Given the description of an element on the screen output the (x, y) to click on. 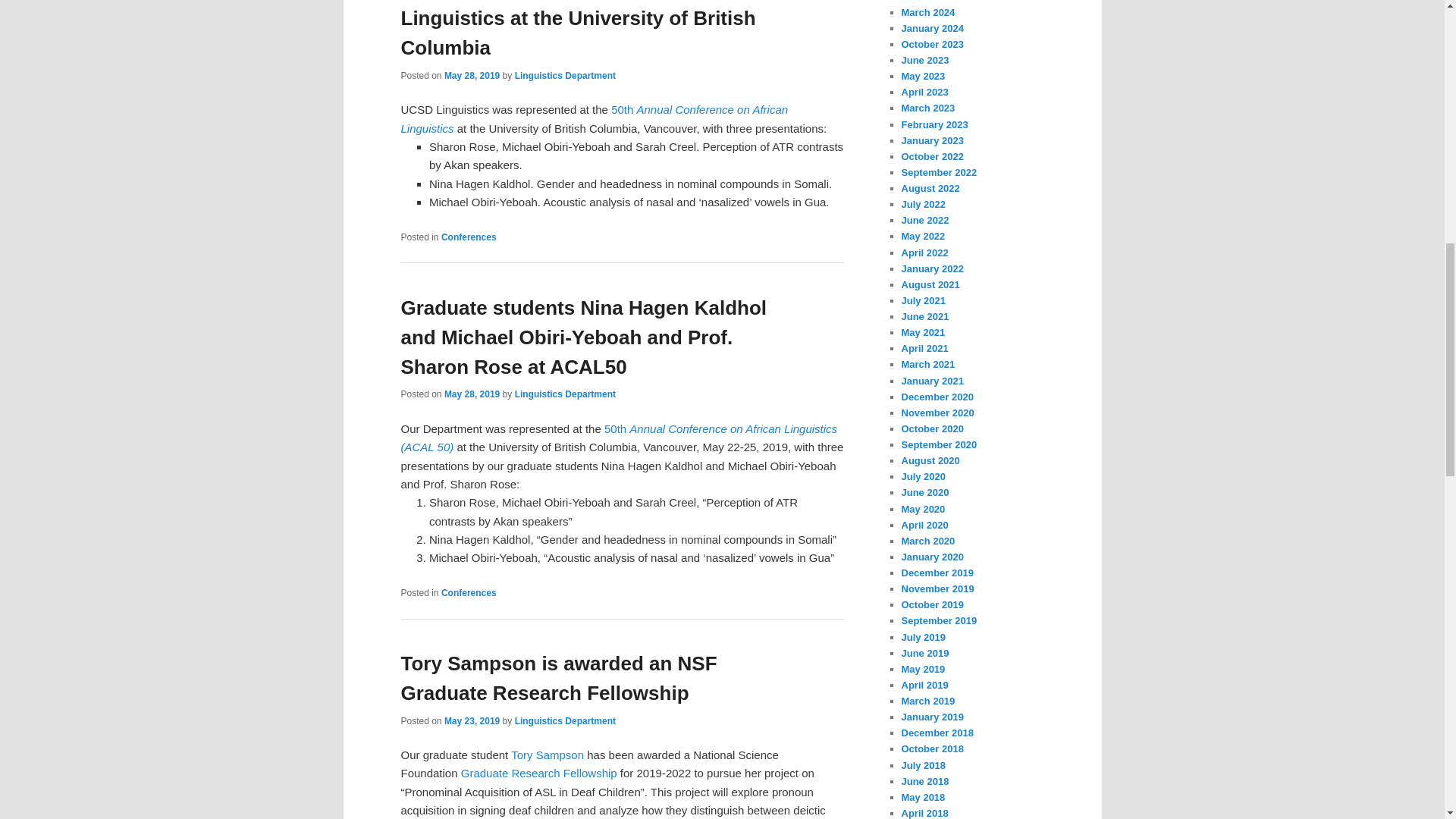
50th Annual Conference on African Linguistics (593, 118)
Conferences (468, 593)
Tory Sampson is awarded an NSF Graduate Research Fellowship (558, 677)
9:45 am (471, 720)
Graduate Research Fellowship (539, 772)
View all posts by Linguistics Department (565, 720)
Conferences (468, 236)
Tory Sampson (547, 754)
Linguistics Department (565, 720)
Linguistics Department (565, 75)
10:54 am (471, 75)
View all posts by Linguistics Department (565, 75)
Linguistics Department (565, 394)
View all posts by Linguistics Department (565, 394)
